Given the description of an element on the screen output the (x, y) to click on. 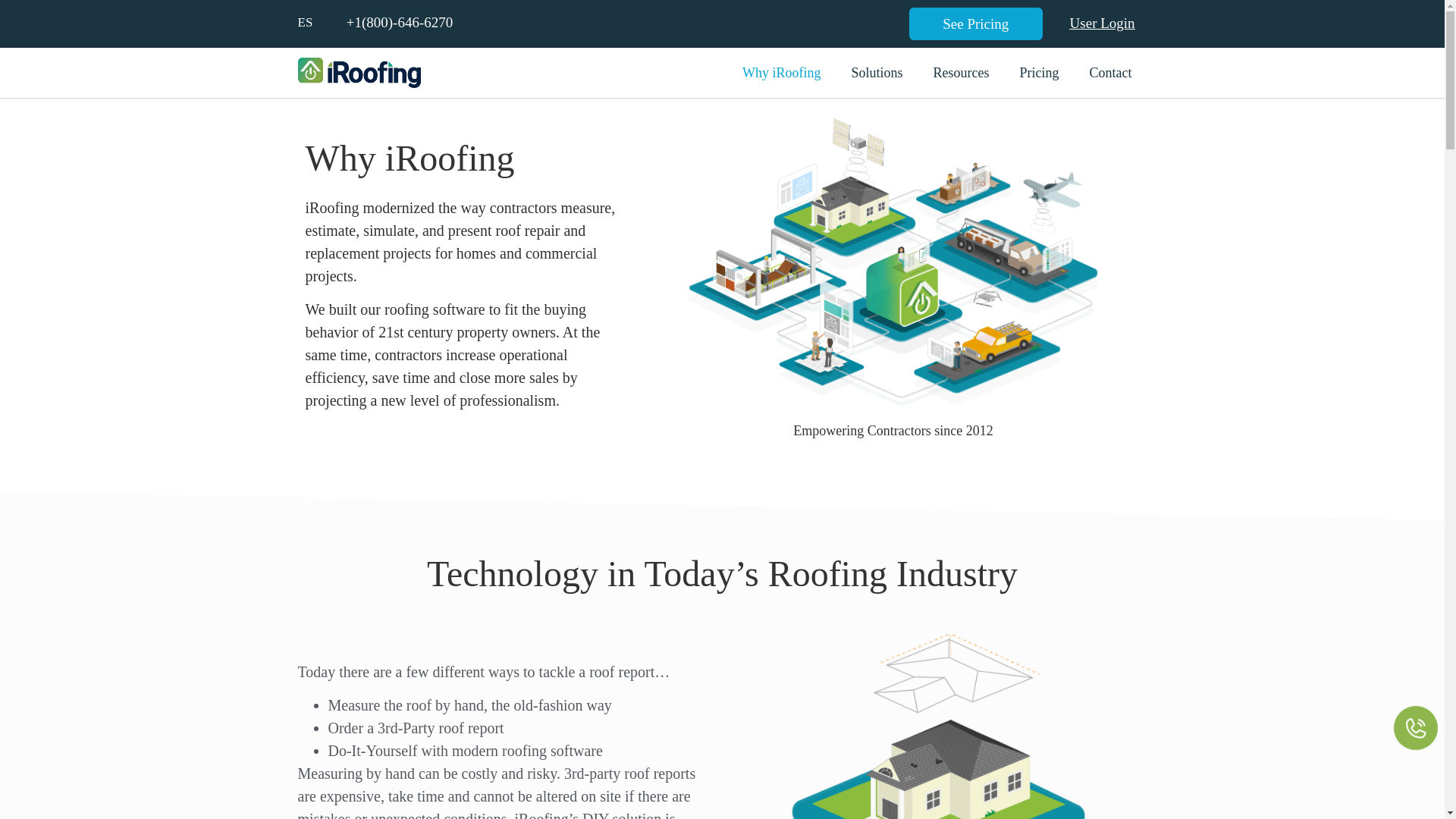
See Pricing (975, 23)
User Login (1102, 22)
ES (305, 22)
Resources (960, 72)
Solutions (876, 72)
Contact (1110, 72)
Pricing (1039, 72)
Why iRoofing (780, 72)
